Given the description of an element on the screen output the (x, y) to click on. 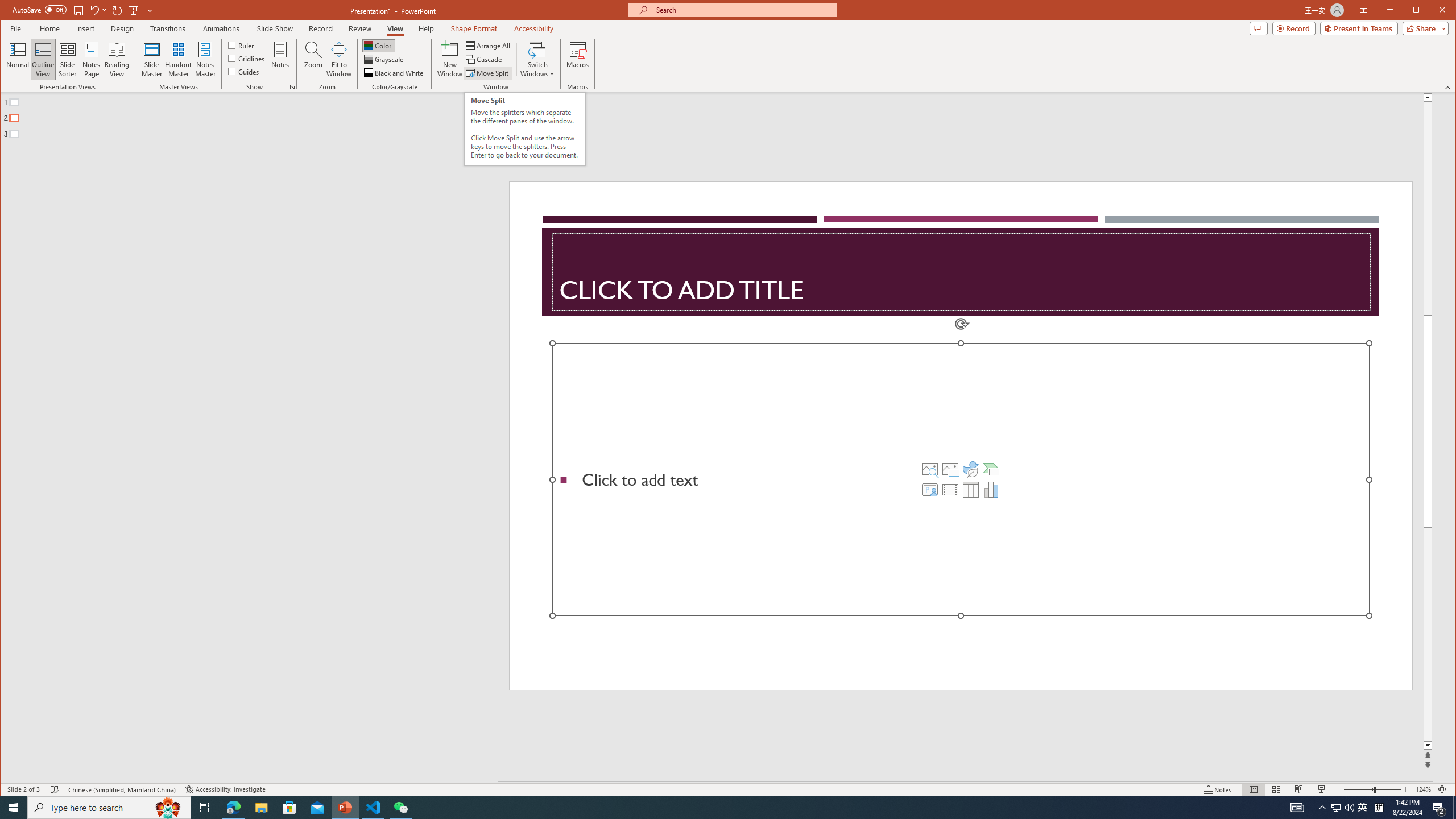
Insert Chart (991, 489)
Zoom... (312, 59)
Guides (243, 70)
Insert a SmartArt Graphic (991, 469)
Notes Page (91, 59)
